Given the description of an element on the screen output the (x, y) to click on. 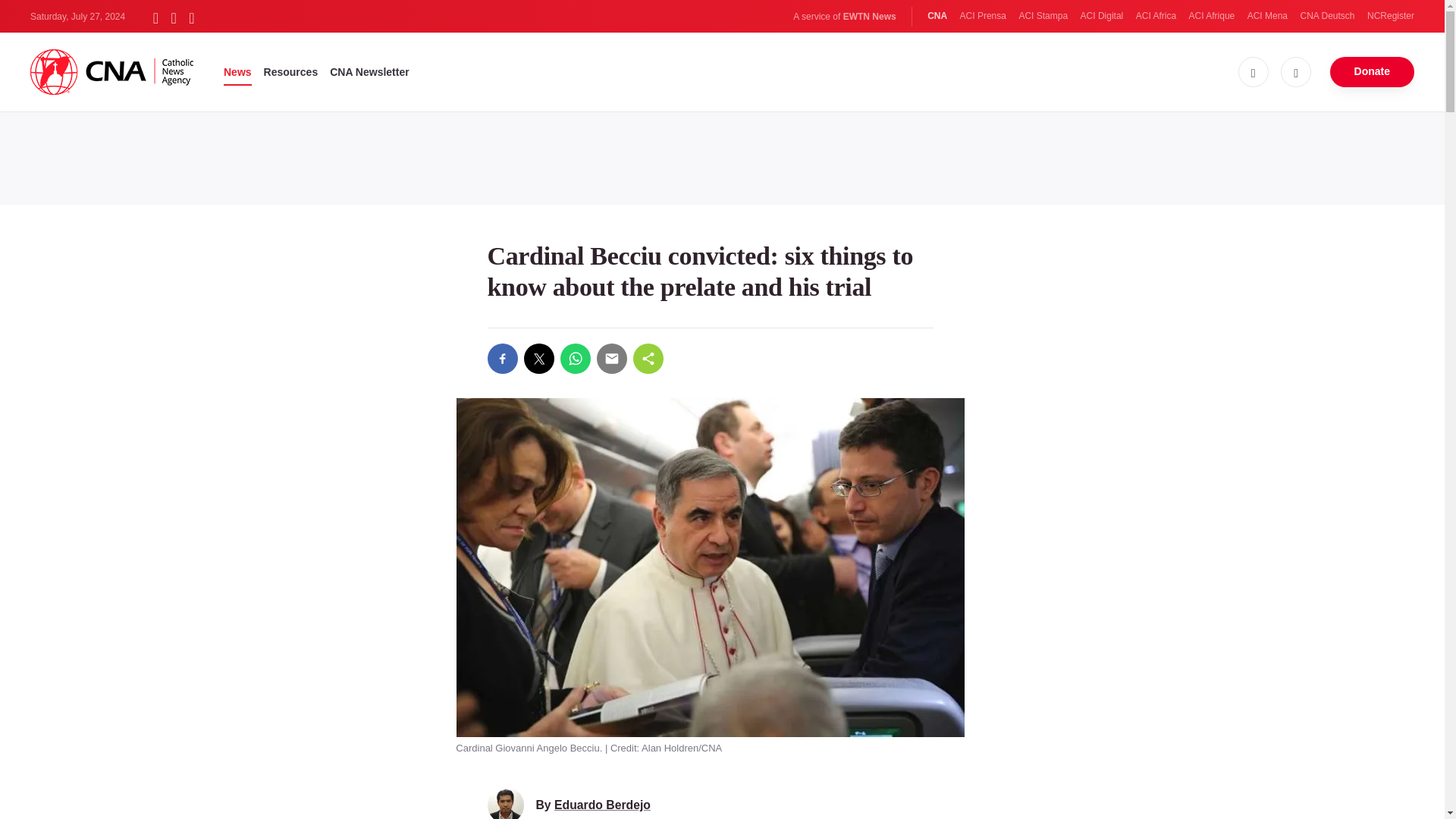
CNA Deutsch (1327, 16)
News (237, 71)
NCRegister (1390, 16)
ACI Mena (1267, 16)
ACI Stampa (1042, 16)
ACI Afrique (1211, 16)
Resources (290, 71)
CNA (937, 16)
EWTN News (869, 16)
EWTN News (869, 16)
ACI Africa (1155, 16)
3rd party ad content (721, 155)
ACI Digital (1102, 16)
ACI Prensa (982, 16)
